Given the description of an element on the screen output the (x, y) to click on. 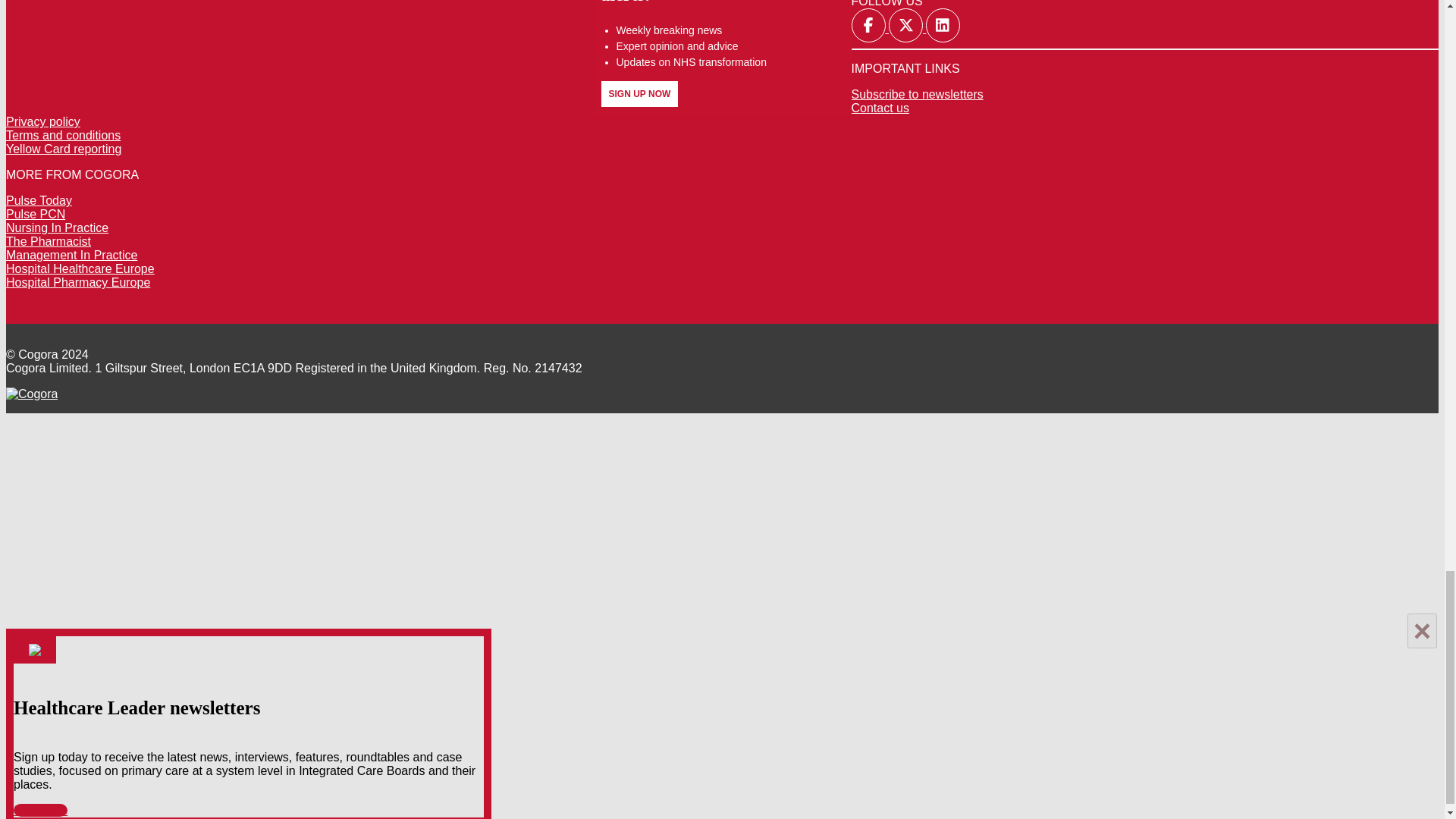
Privacy policy (42, 121)
Subscribe to newsletters (916, 93)
Nursing In Practice (56, 227)
The Pharmacist (47, 241)
Management In Practice (70, 254)
Contact us (879, 107)
Pulse PCN (35, 214)
Yellow Card reporting (62, 148)
Terms and conditions (62, 134)
Pulse Today (38, 200)
